Given the description of an element on the screen output the (x, y) to click on. 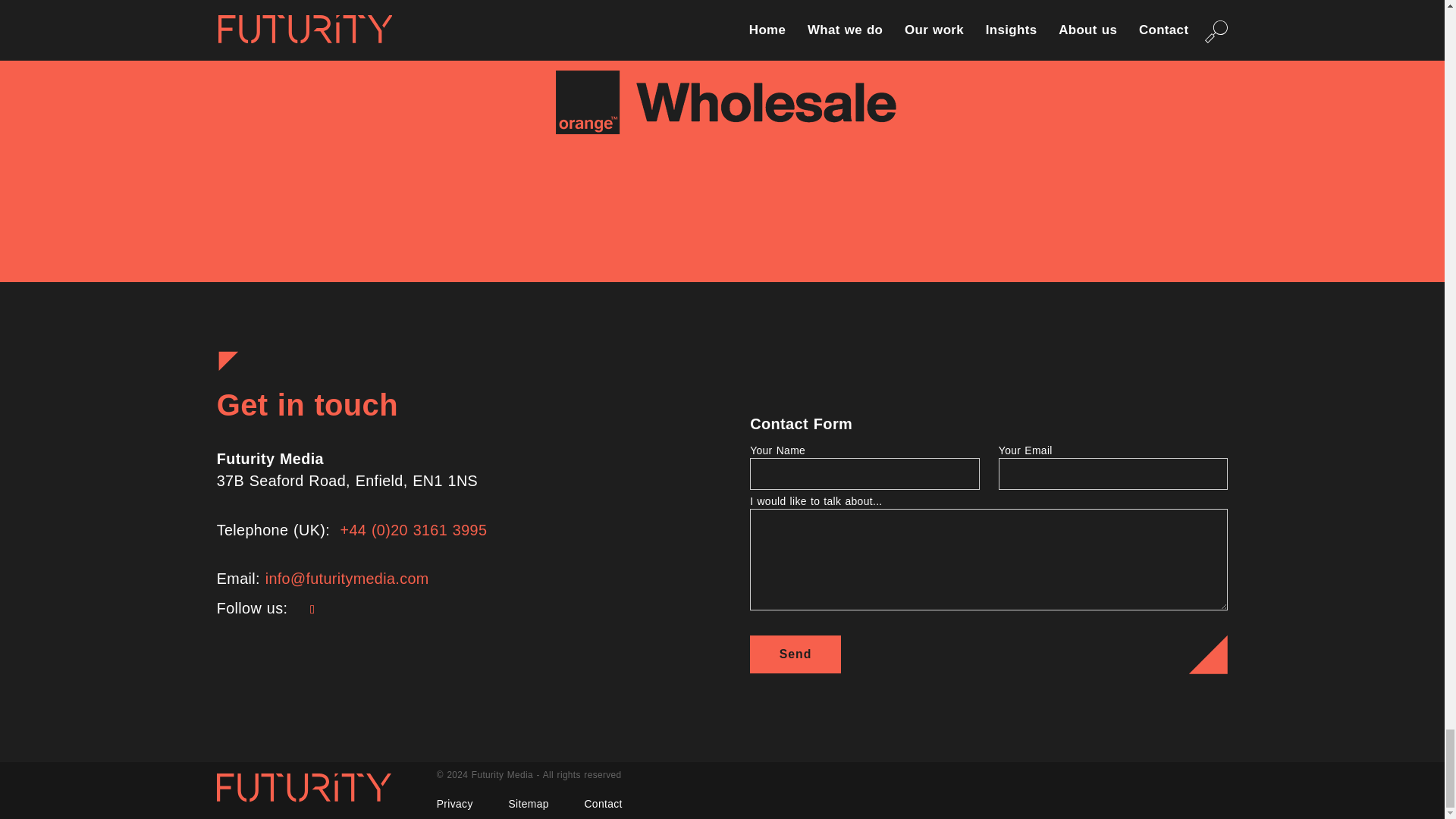
Send (795, 654)
Follow on LinkedIn (311, 609)
Contact (602, 803)
Sitemap (528, 803)
Send (795, 654)
Privacy (454, 803)
